Given the description of an element on the screen output the (x, y) to click on. 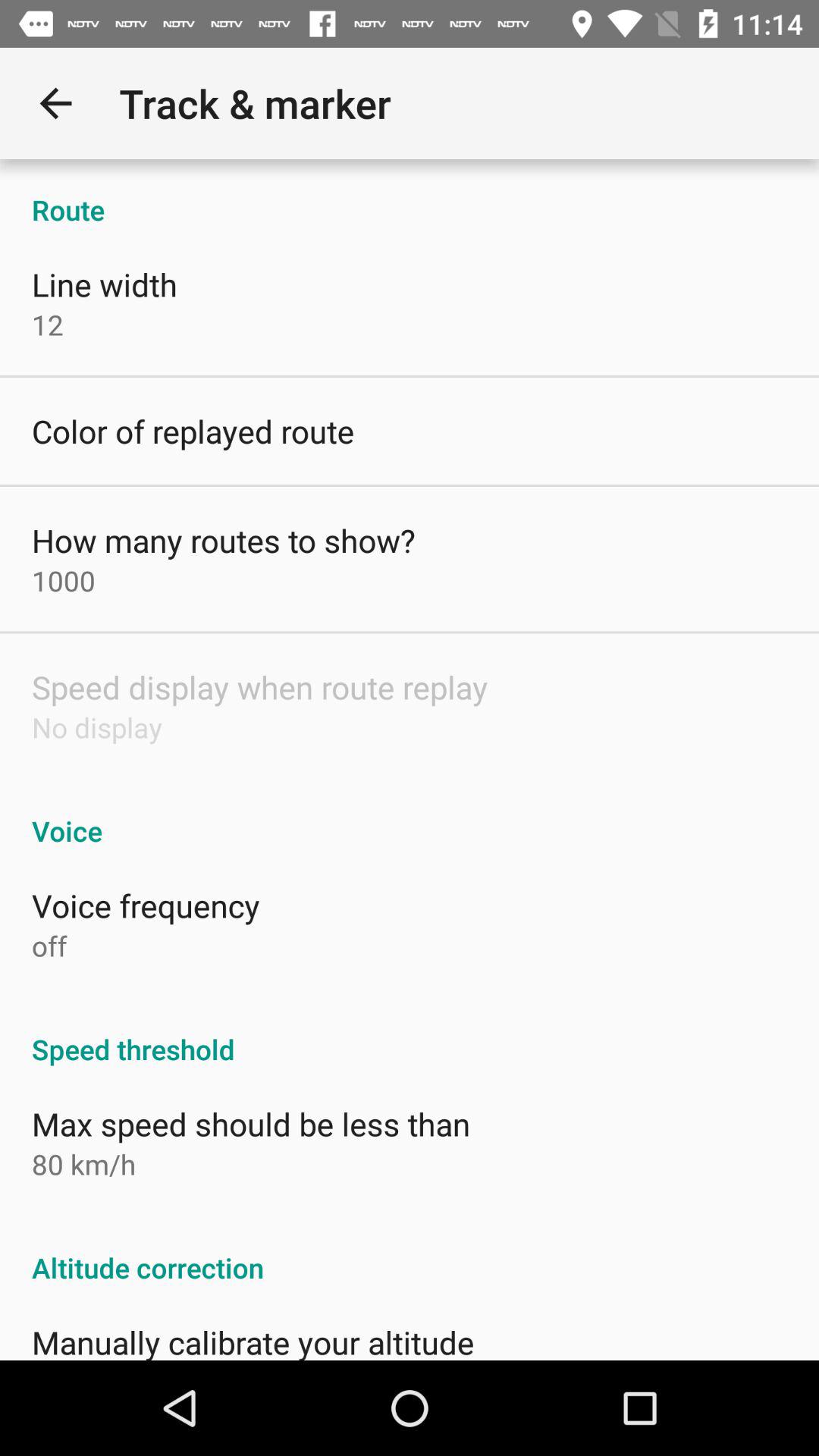
flip until color of replayed icon (192, 430)
